Given the description of an element on the screen output the (x, y) to click on. 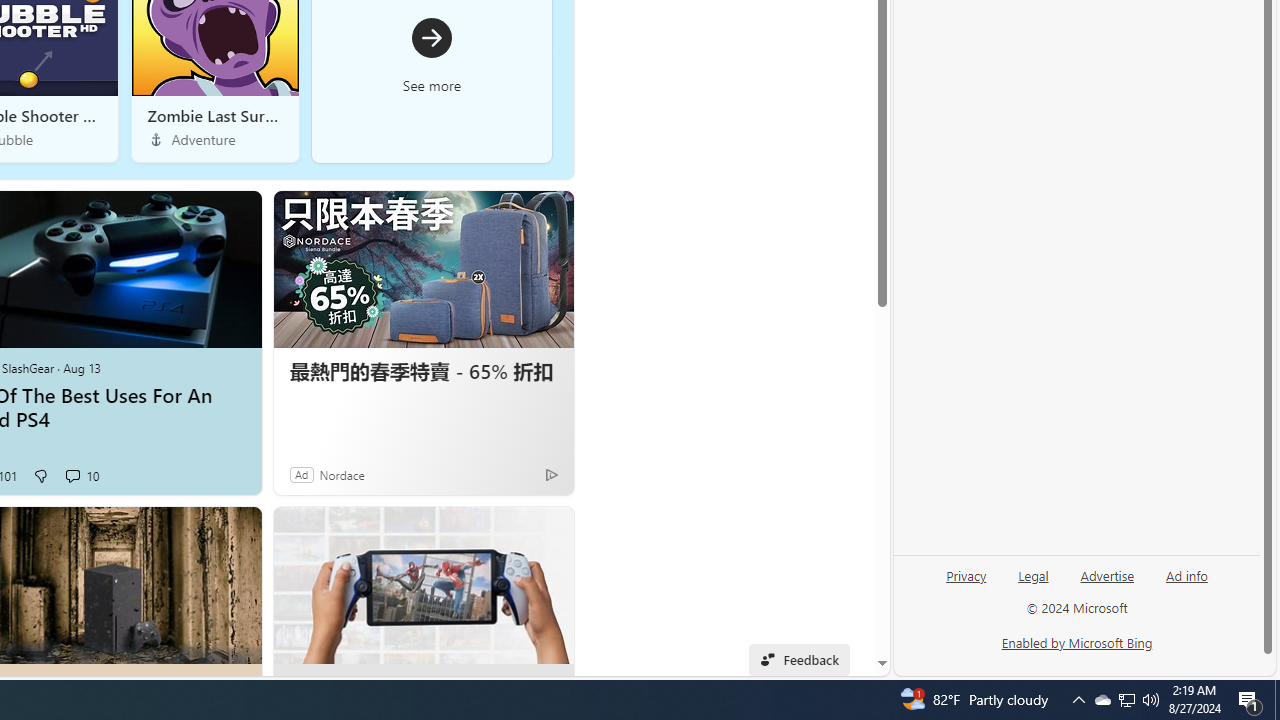
View comments 10 Comment (81, 475)
Hide this story (512, 530)
